Given the description of an element on the screen output the (x, y) to click on. 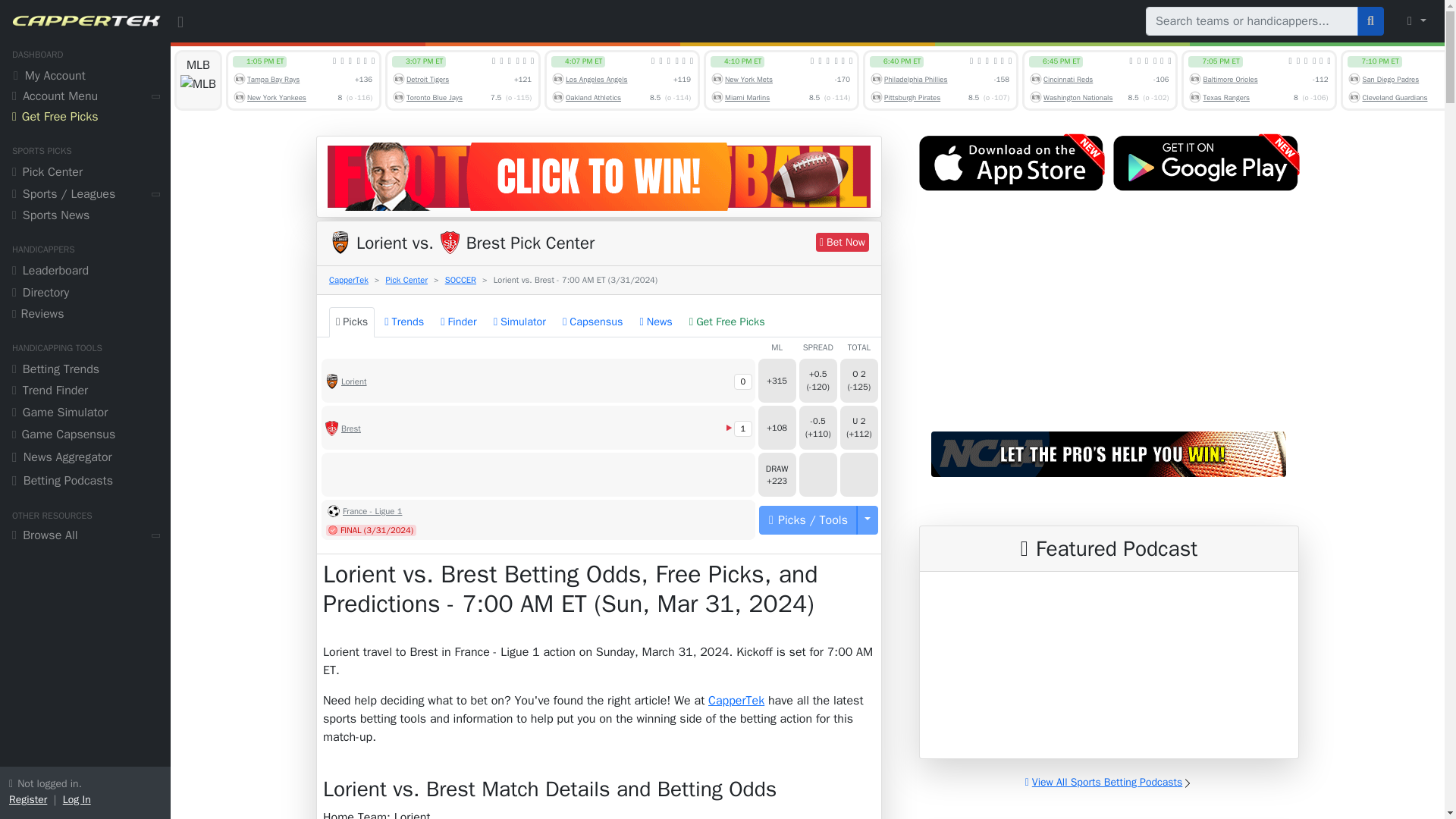
Directory (85, 294)
Betting Trends (85, 371)
Reviews (85, 315)
Sports News (85, 217)
Trend Finder (85, 392)
My Account (85, 77)
Account Menu (85, 97)
News Aggregator (85, 458)
Browse All (85, 536)
Leaderboard (85, 272)
Get Free Picks (85, 118)
Pick Center (85, 173)
Game Simulator (85, 414)
YouTube video player (1108, 318)
Betting Podcasts (85, 482)
